Given the description of an element on the screen output the (x, y) to click on. 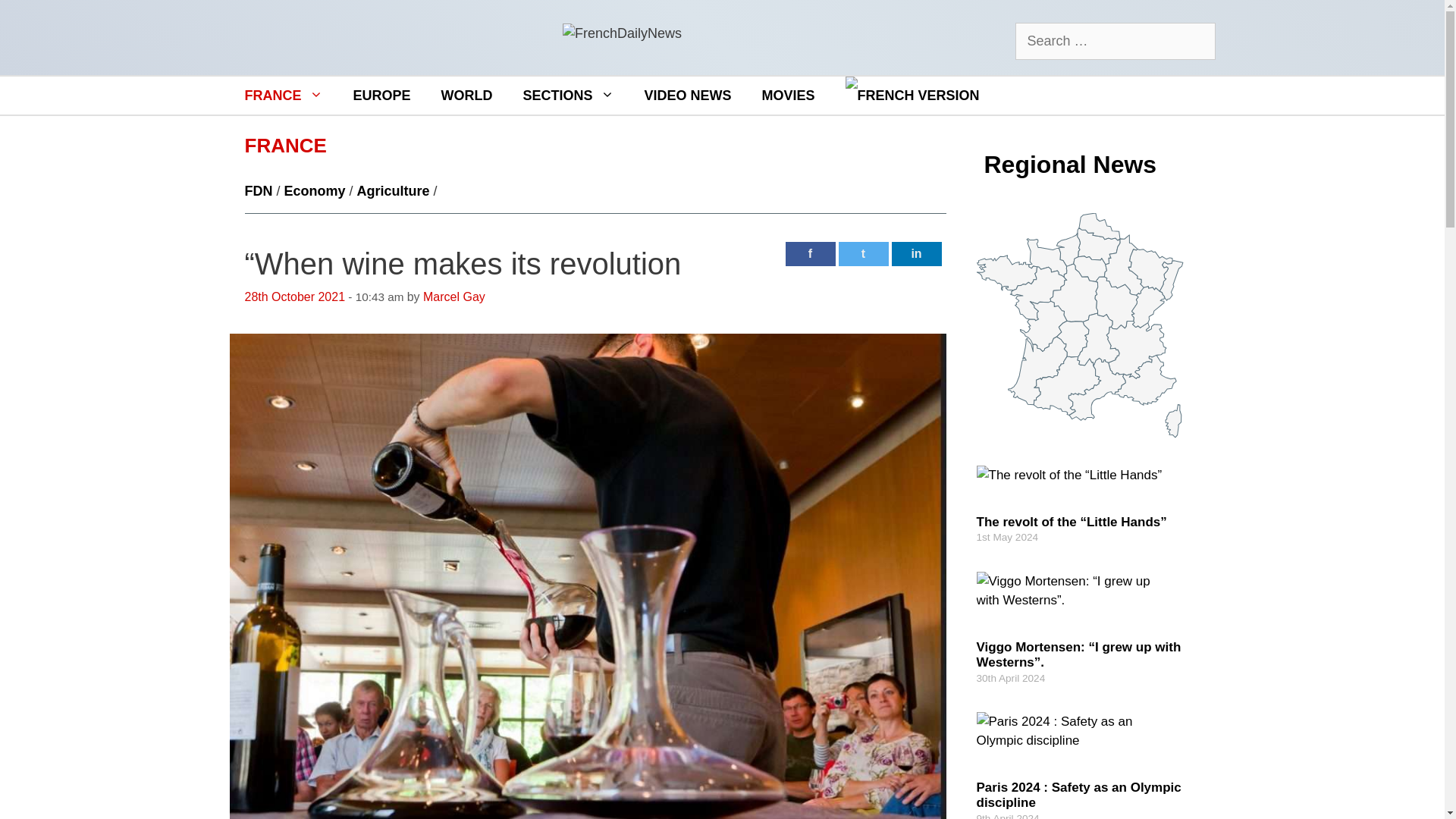
French version (912, 95)
FRANCE (282, 95)
View all posts by Marcel Gay (453, 296)
Search (37, 18)
10:43 am (294, 296)
Search for: (1114, 40)
